Given the description of an element on the screen output the (x, y) to click on. 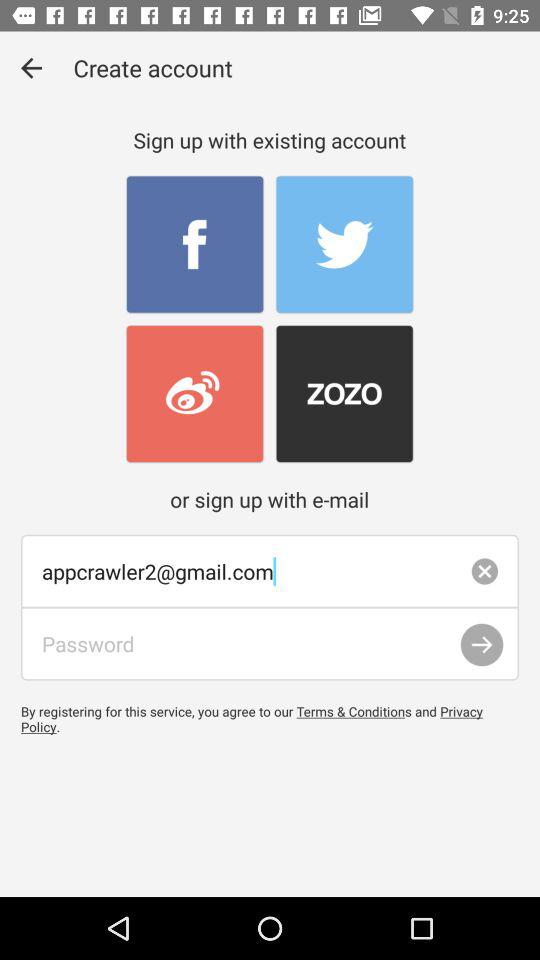
launch item next to the create account icon (31, 68)
